Given the description of an element on the screen output the (x, y) to click on. 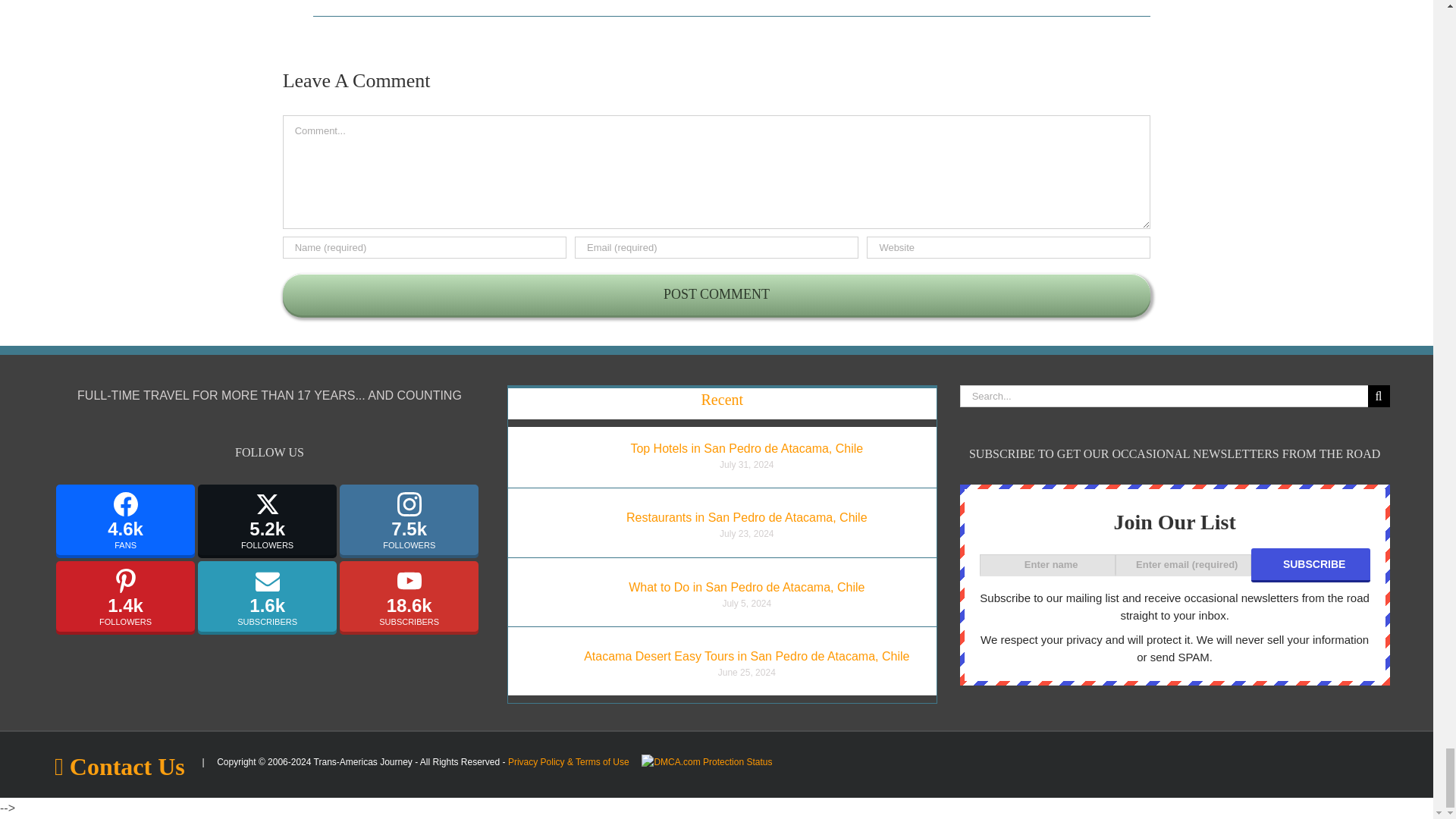
Post Comment (716, 294)
Subscribe (1310, 564)
